Given the description of an element on the screen output the (x, y) to click on. 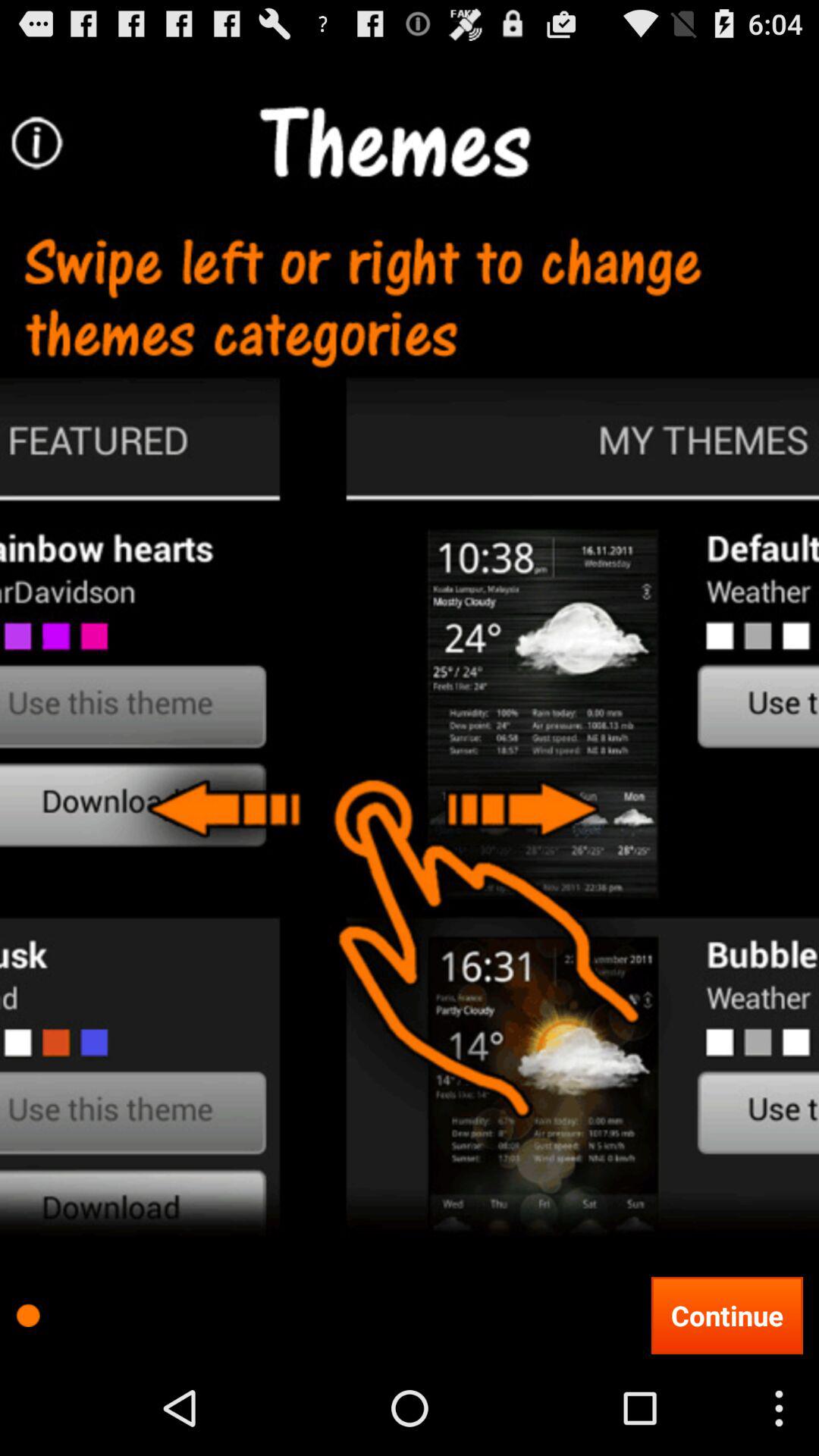
click the continue (727, 1315)
